Given the description of an element on the screen output the (x, y) to click on. 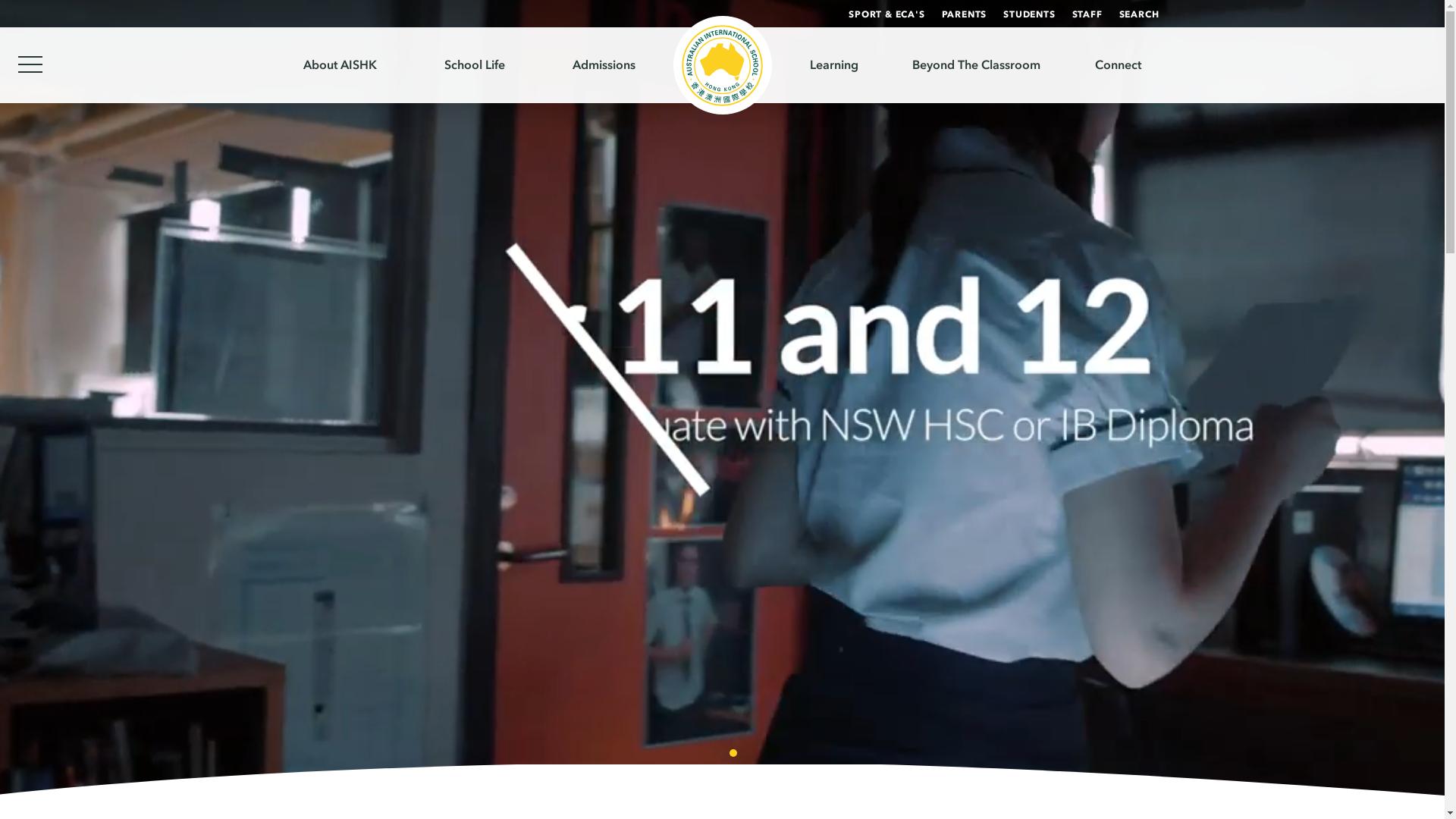
SEARCH Element type: text (1139, 14)
Beyond The Classroom Element type: text (976, 65)
Admissions Element type: text (603, 65)
SPORT & ECA'S Element type: text (886, 14)
STAFF Element type: text (1087, 14)
PARENTS Element type: text (964, 14)
Learning Element type: text (833, 65)
About AISHK Element type: text (339, 65)
STUDENTS Element type: text (1028, 14)
School Life Element type: text (474, 65)
Connect Element type: text (1118, 65)
